Given the description of an element on the screen output the (x, y) to click on. 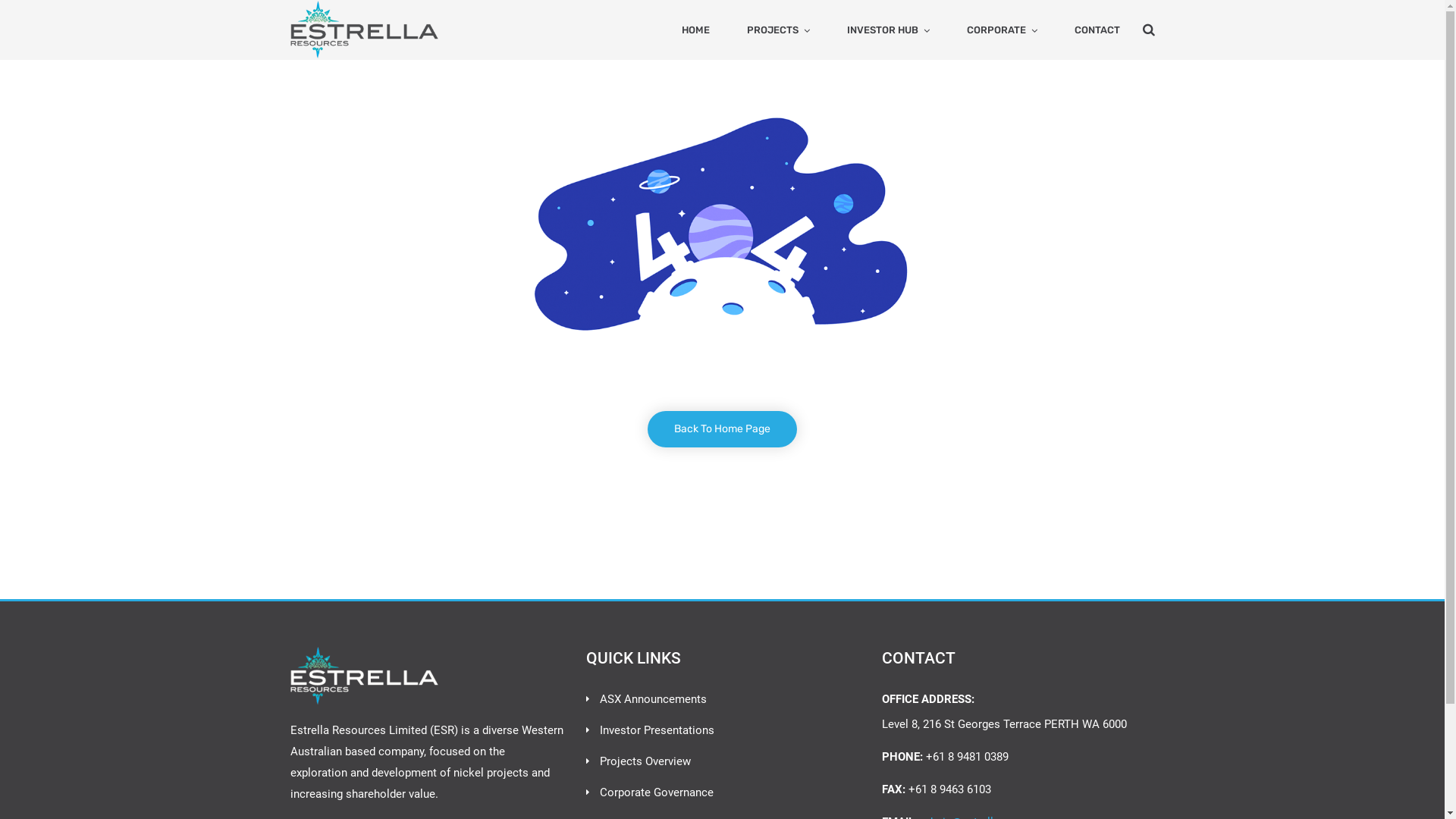
PROJECTS Element type: text (777, 29)
CORPORATE Element type: text (1001, 29)
Projects Overview Element type: text (644, 761)
INVESTOR HUB Element type: text (887, 29)
Corporate Governance Element type: text (655, 792)
Back To Home Page Element type: text (722, 429)
Investor Presentations Element type: text (656, 730)
CONTACT Element type: text (1096, 29)
HOME Element type: text (694, 29)
ASX Announcements Element type: text (652, 699)
